Given the description of an element on the screen output the (x, y) to click on. 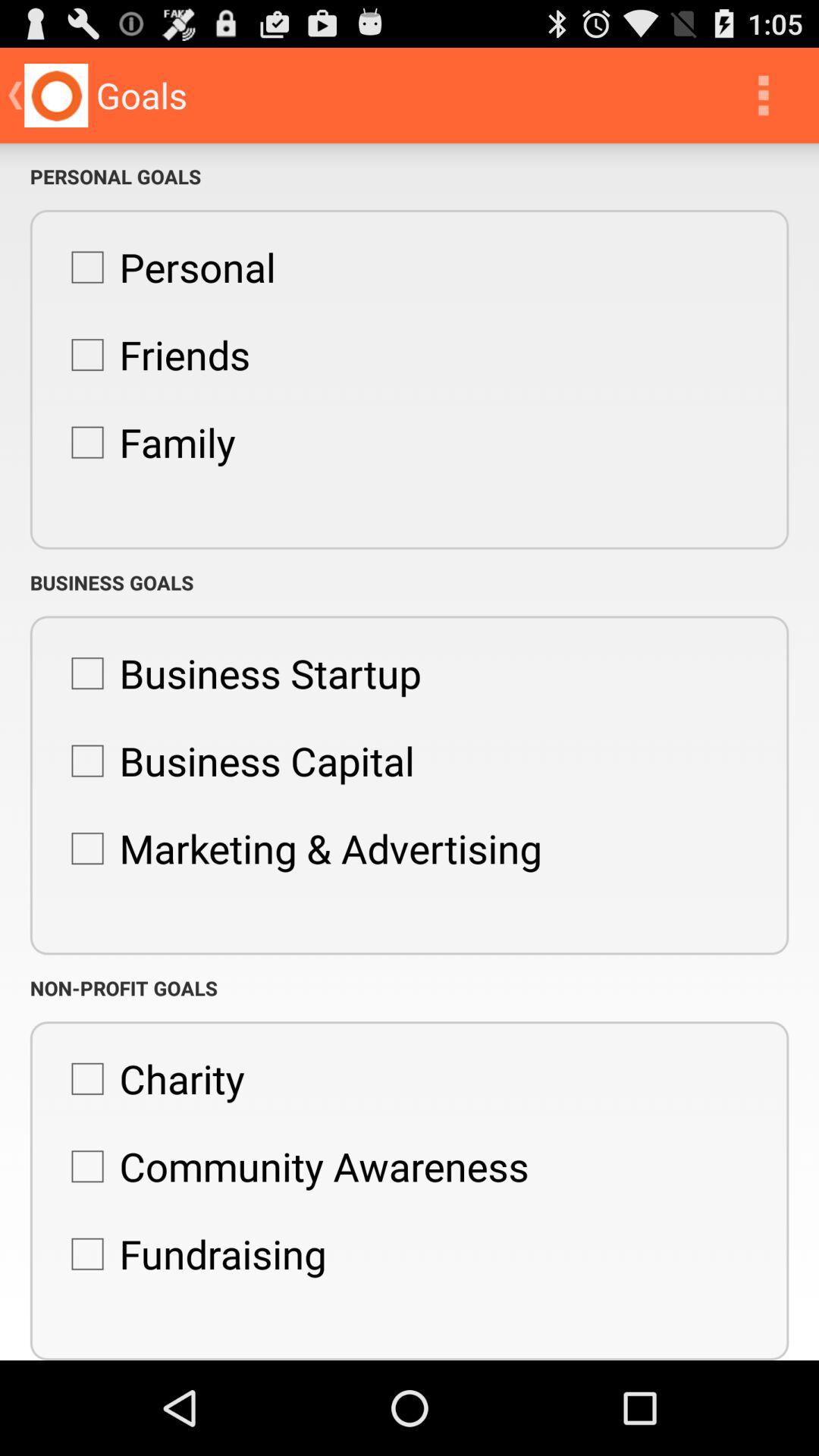
open app above the non-profit goals (298, 848)
